Given the description of an element on the screen output the (x, y) to click on. 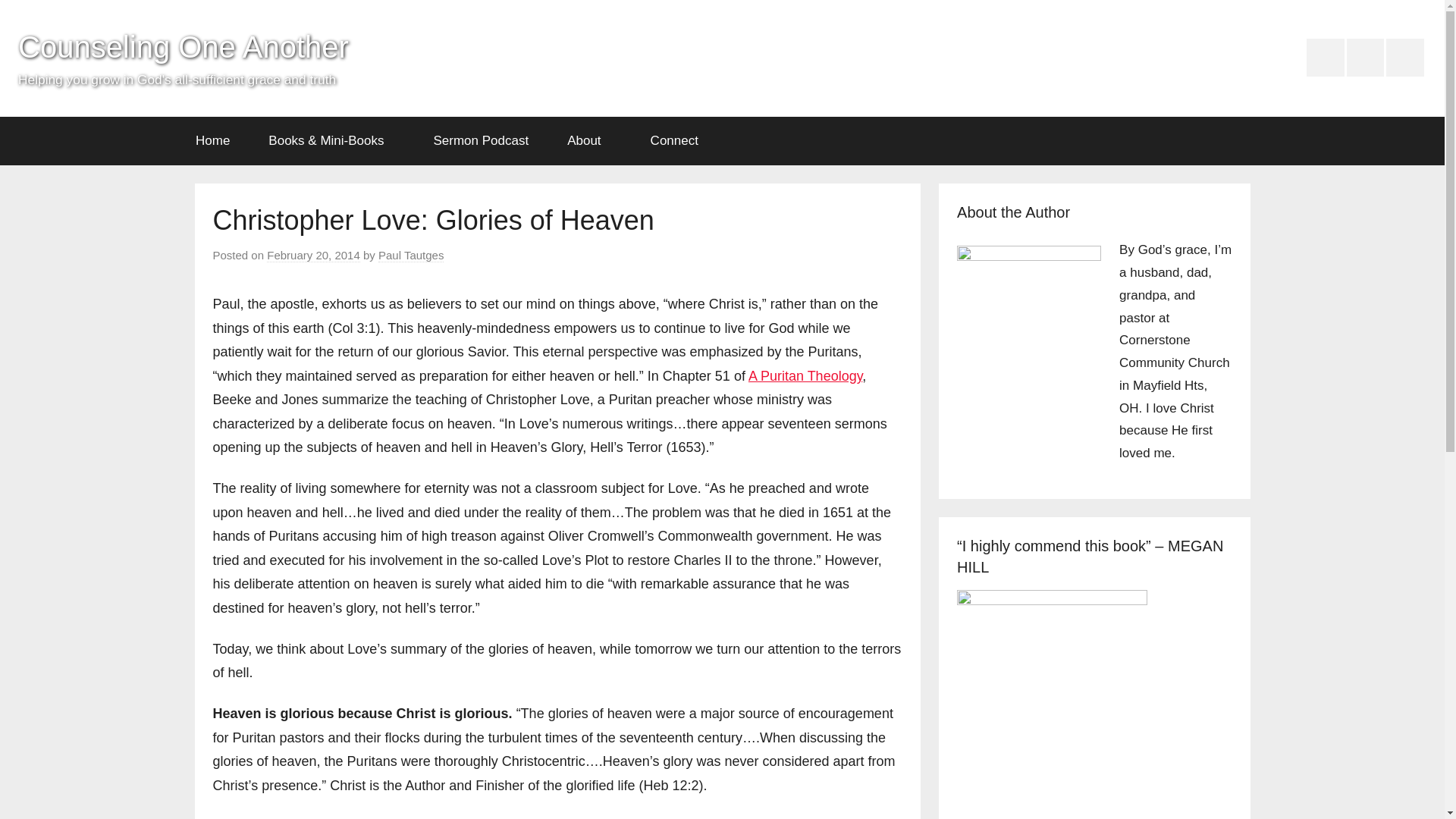
Connect (679, 141)
Counseling One Another (183, 46)
Paul Tautges (411, 255)
A Puritan Theology (804, 376)
About (589, 141)
View all posts by Paul Tautges (411, 255)
RSS (1365, 57)
Twitter (1404, 57)
Search (1227, 141)
February 20, 2014 (312, 255)
Sermon Podcast (480, 141)
Home (212, 141)
Facebook (1324, 57)
